Given the description of an element on the screen output the (x, y) to click on. 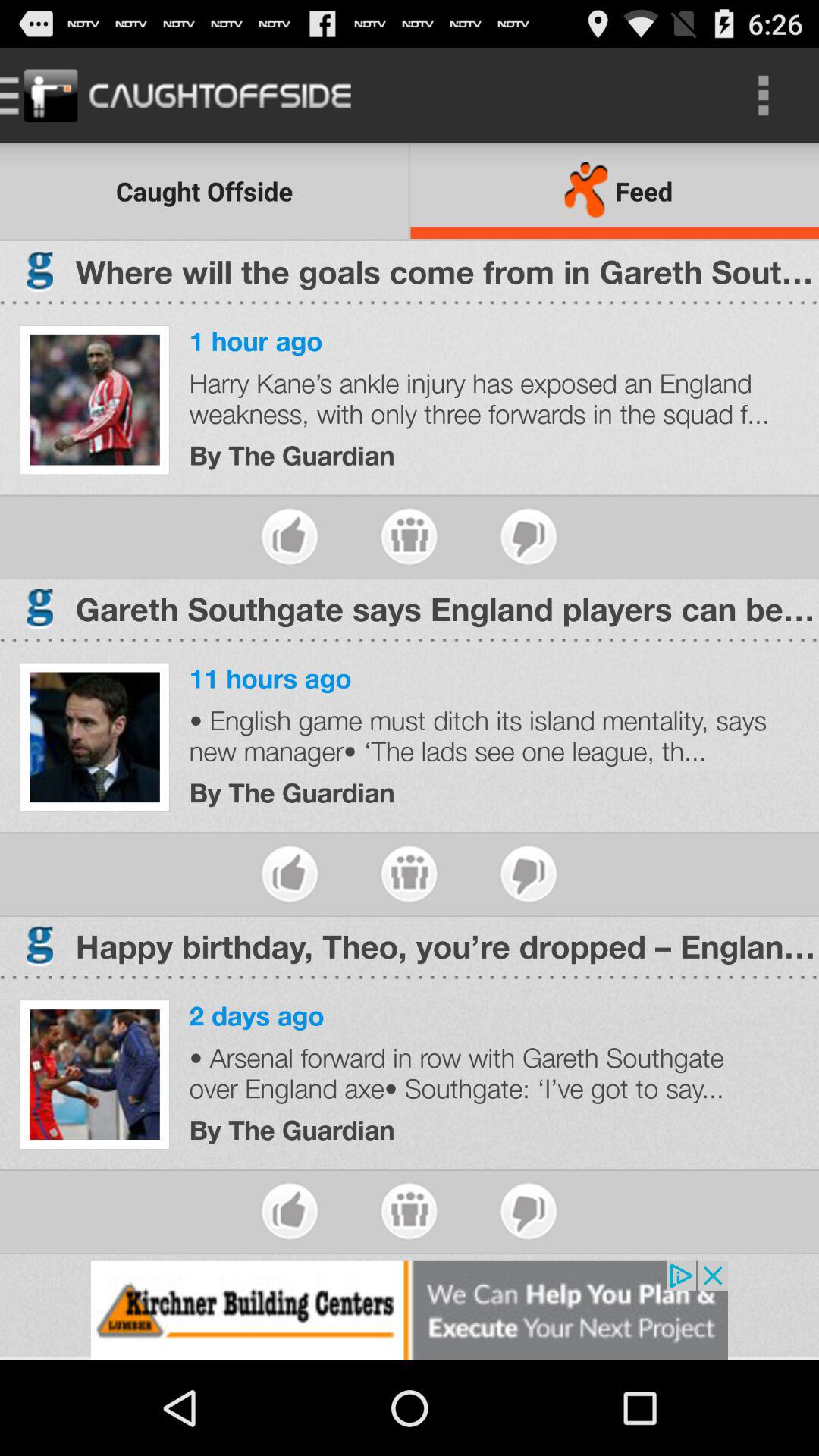
dislike (528, 536)
